Given the description of an element on the screen output the (x, y) to click on. 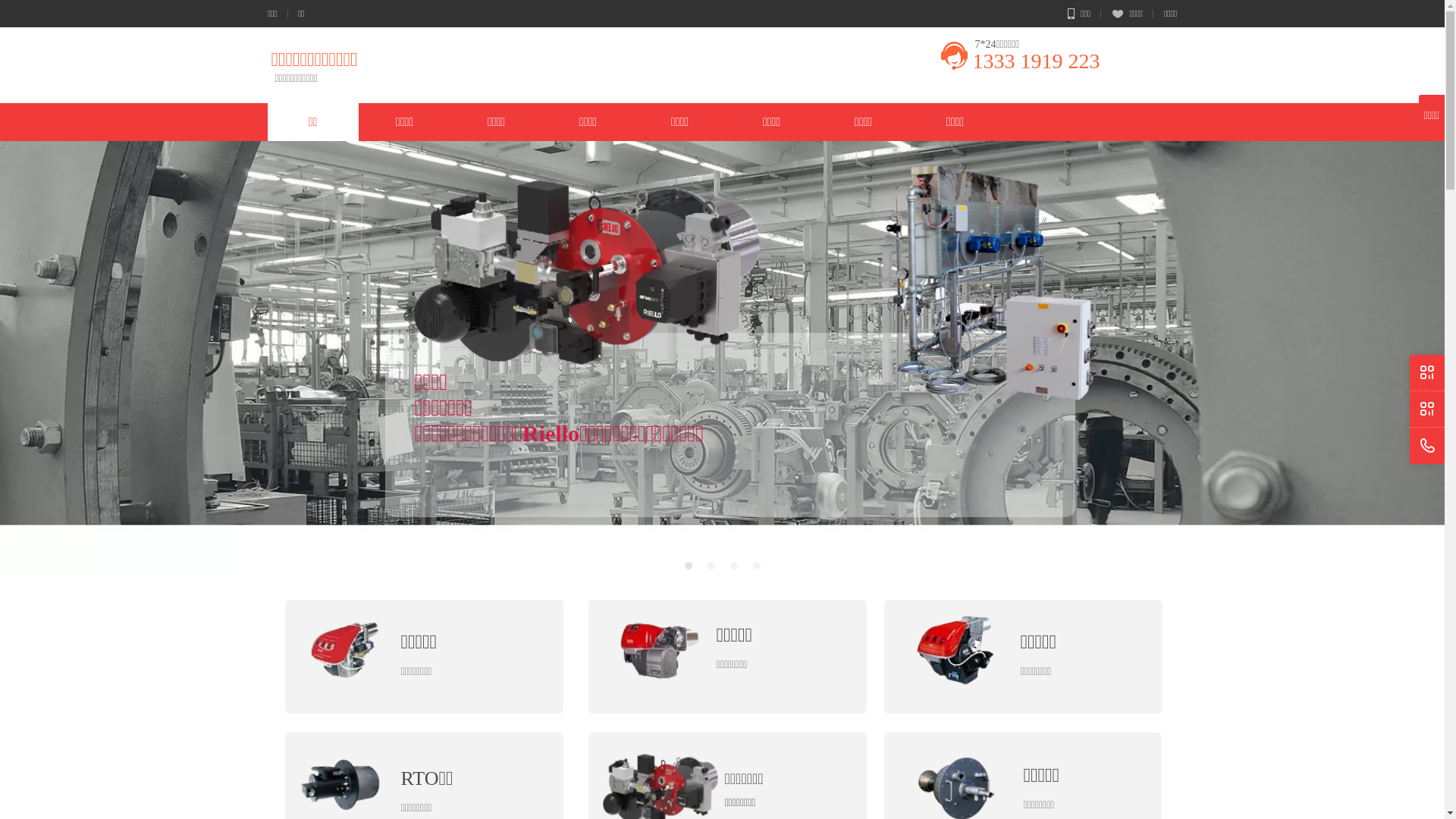
1333 1919 223 Element type: text (1035, 60)
